Given the description of an element on the screen output the (x, y) to click on. 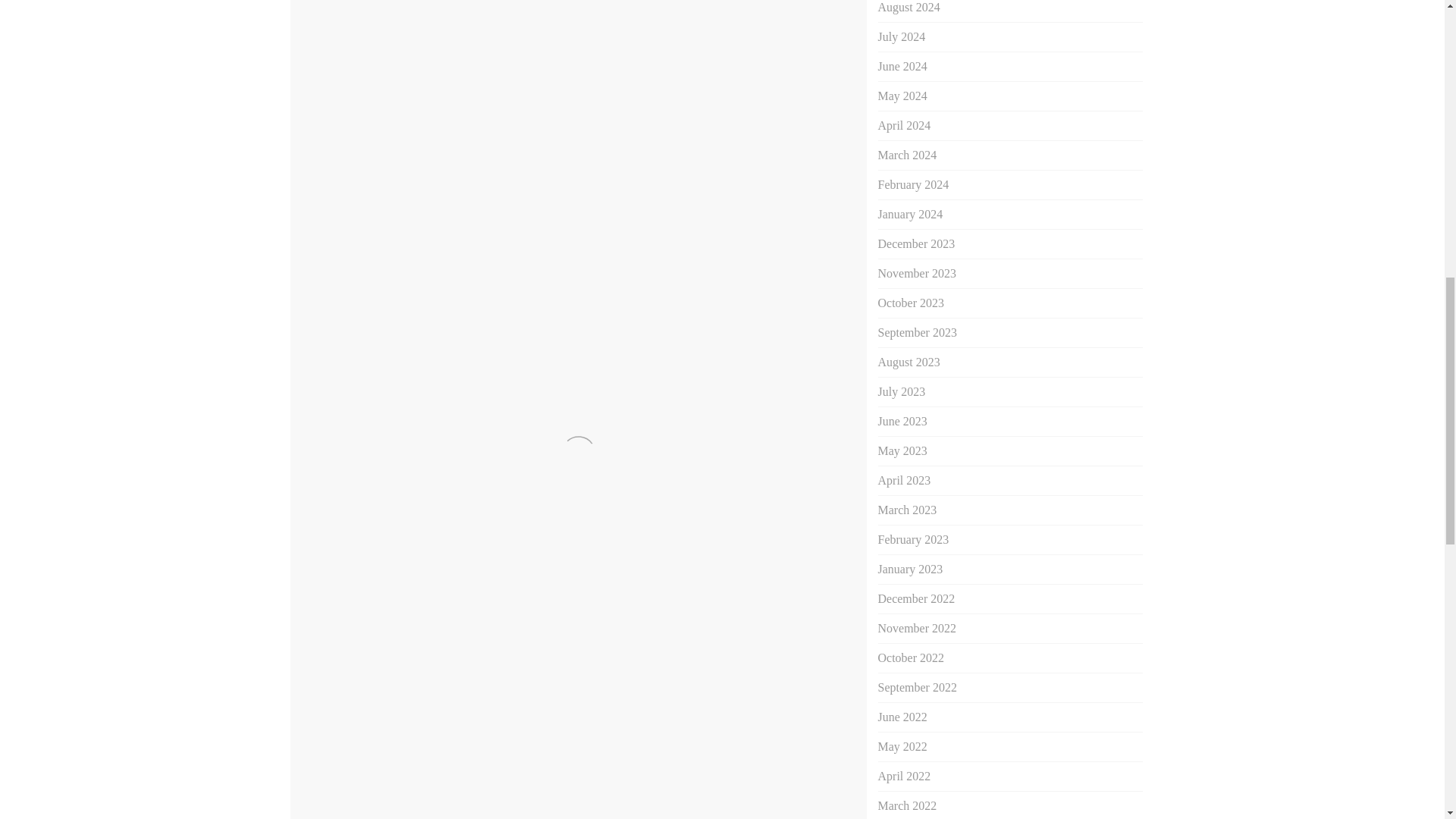
February 2024 (913, 184)
March 2023 (907, 509)
June 2023 (902, 420)
September 2022 (916, 686)
April 2024 (904, 124)
May 2024 (902, 95)
October 2022 (910, 657)
admin (434, 403)
July 2024 (901, 36)
November 2022 (916, 627)
